Given the description of an element on the screen output the (x, y) to click on. 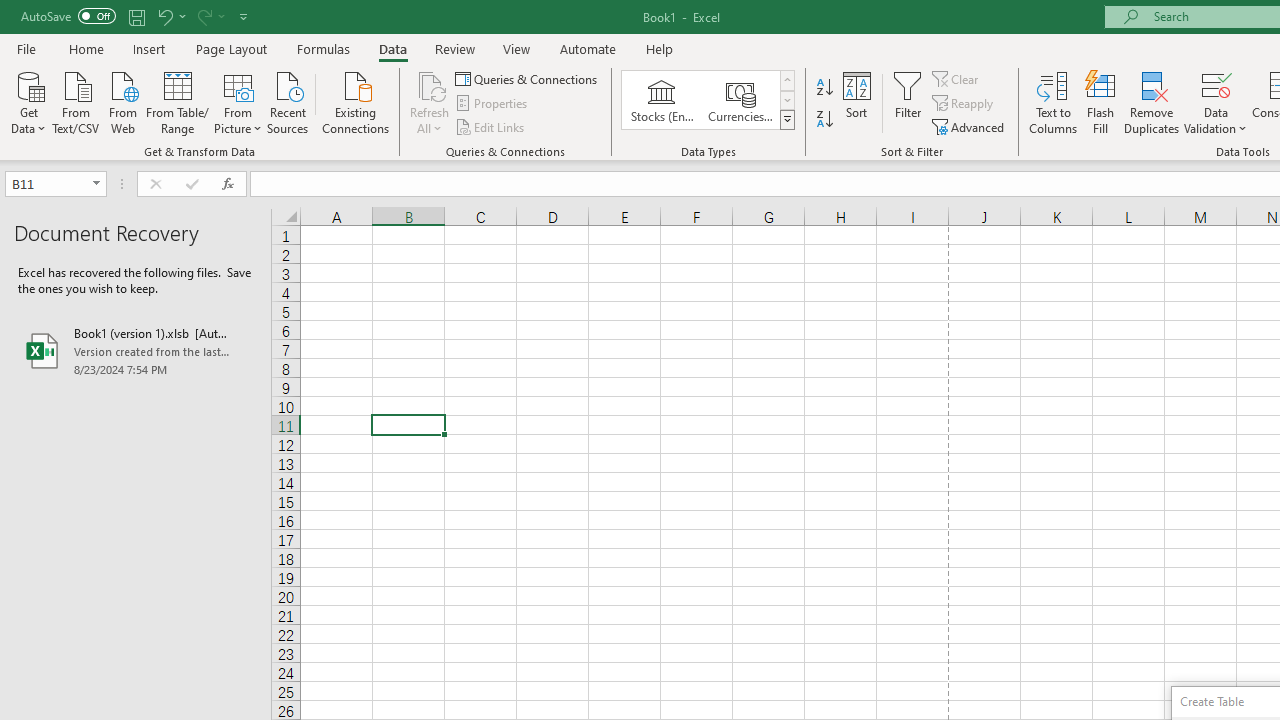
Data (392, 48)
From Text/CSV (75, 101)
Book1 (version 1).xlsb  [AutoRecovered] (136, 350)
Recent Sources (287, 101)
Reapply (964, 103)
Advanced... (970, 126)
Home (86, 48)
Stocks (English) (662, 100)
Page Layout (230, 48)
AutomationID: ConvertToLinkedEntity (708, 99)
System (10, 11)
Data Types (786, 120)
More Options (1215, 121)
File Tab (26, 48)
